Given the description of an element on the screen output the (x, y) to click on. 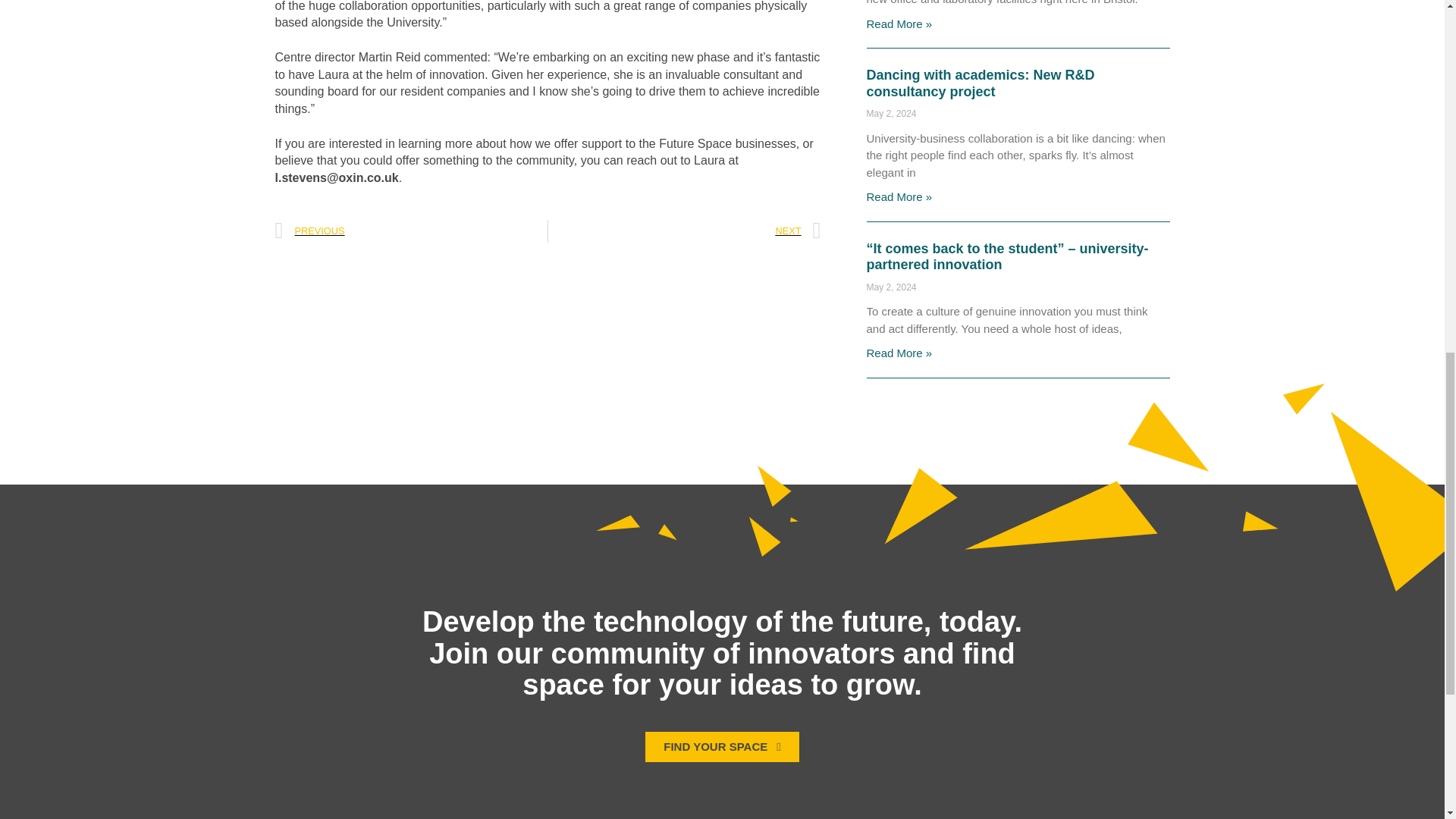
NEXT (684, 231)
PREVIOUS (411, 231)
